Given the description of an element on the screen output the (x, y) to click on. 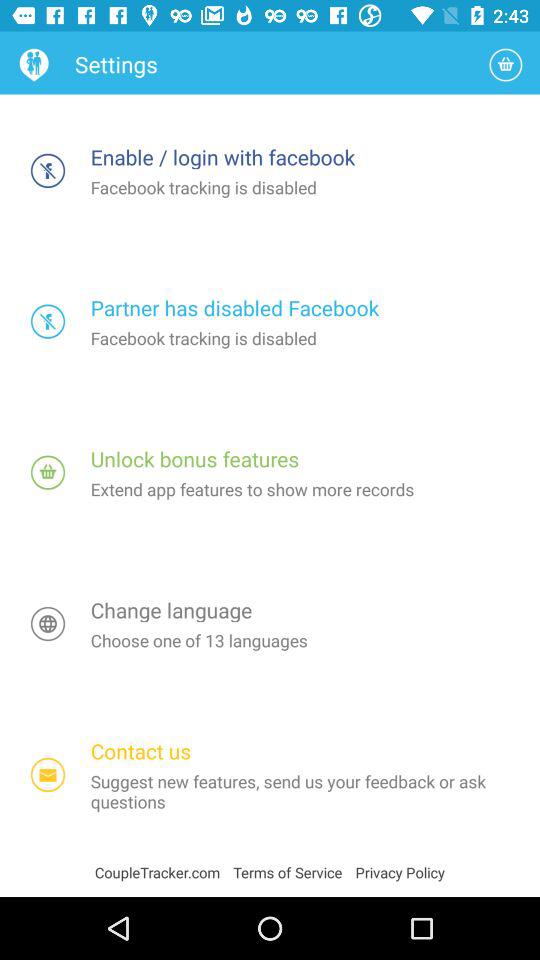
open contact us section (47, 774)
